Given the description of an element on the screen output the (x, y) to click on. 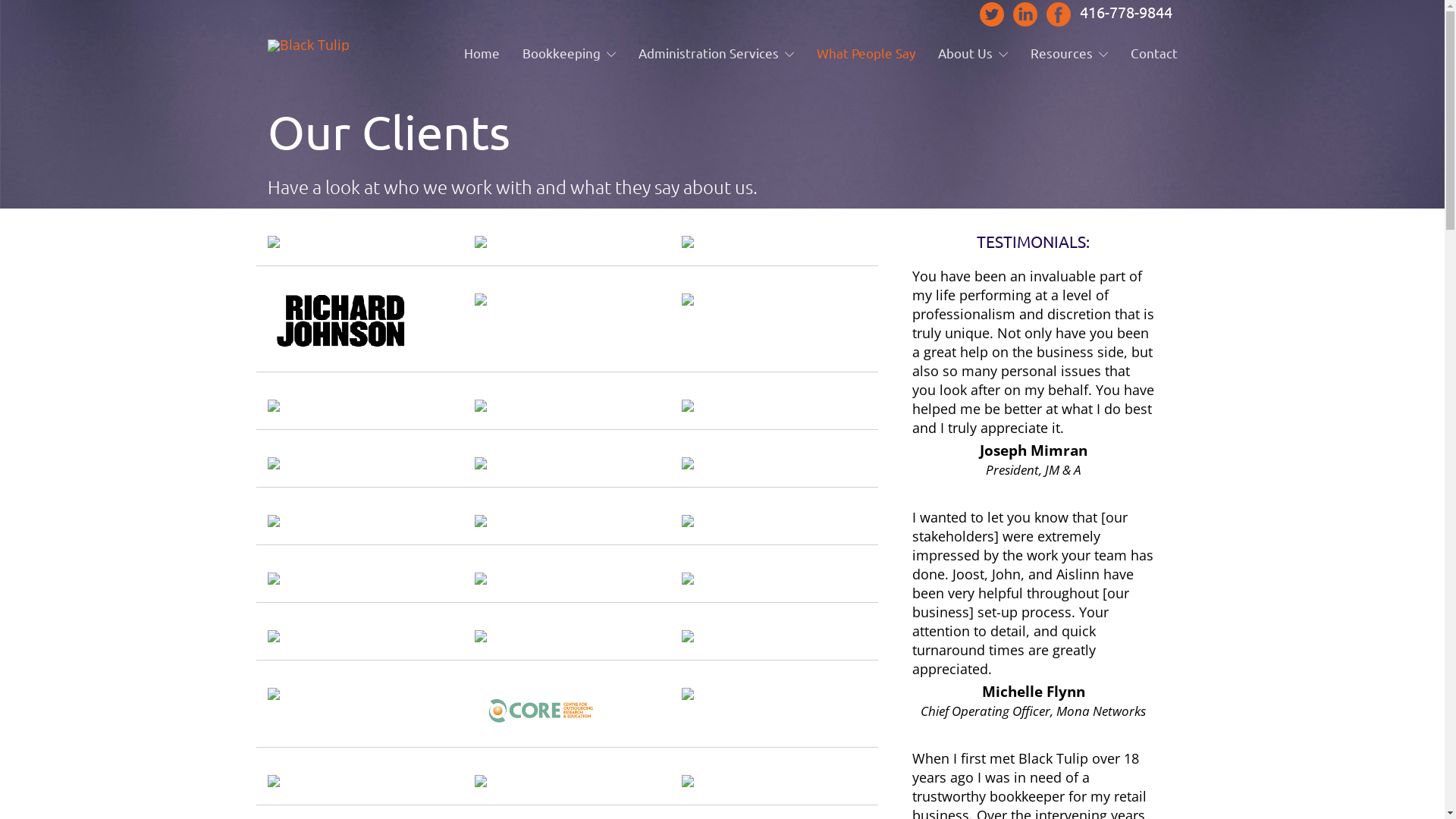
Contact Element type: text (1152, 53)
What People Say Element type: text (864, 53)
Bookkeeping Element type: text (568, 53)
Administration Services Element type: text (715, 53)
About Us Element type: text (972, 53)
Home Element type: text (481, 53)
Resources Element type: text (1068, 53)
416-778-9844 Element type: text (1125, 11)
